Given the description of an element on the screen output the (x, y) to click on. 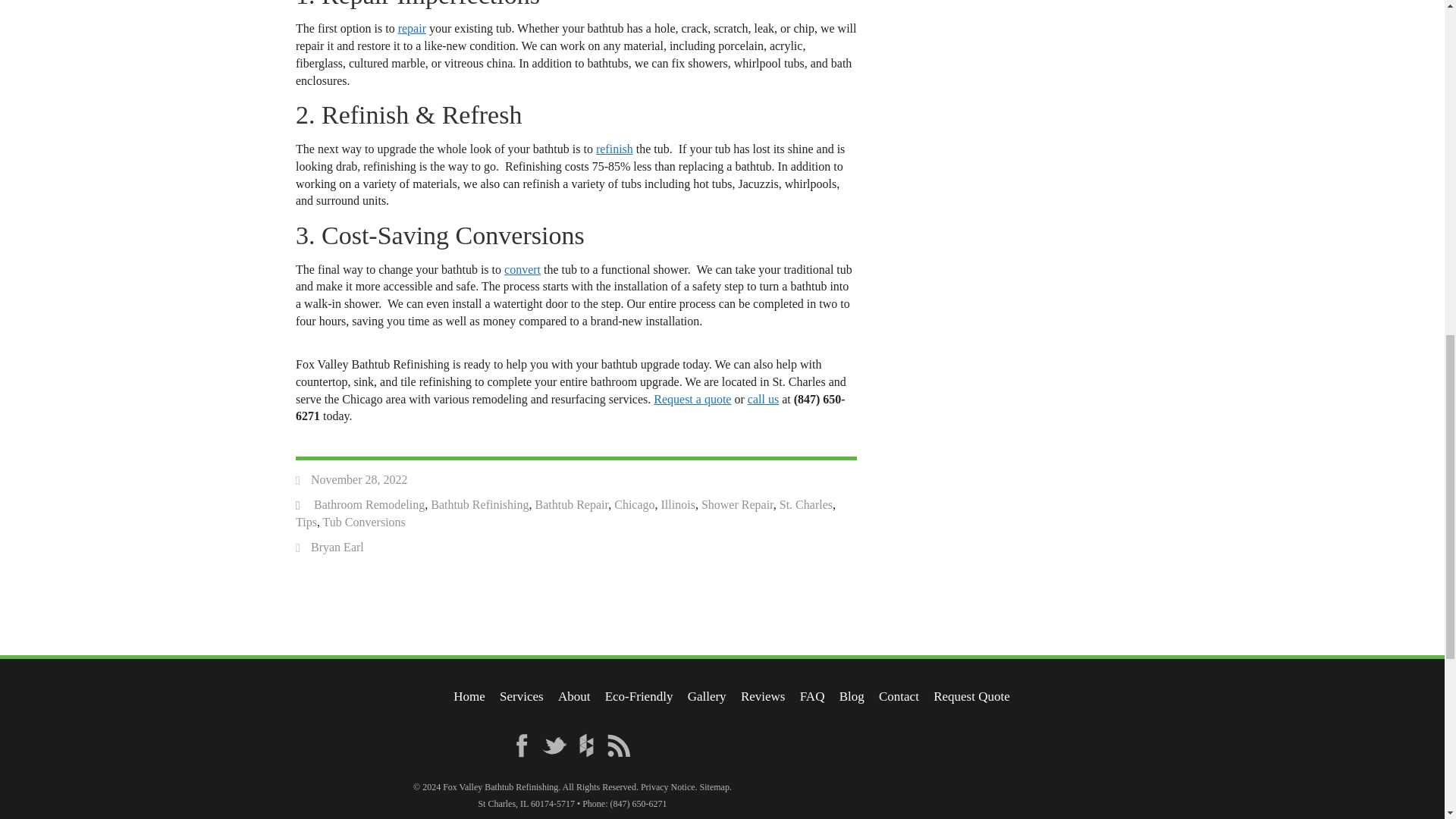
View all posts by Bryan Earl (337, 546)
